Given the description of an element on the screen output the (x, y) to click on. 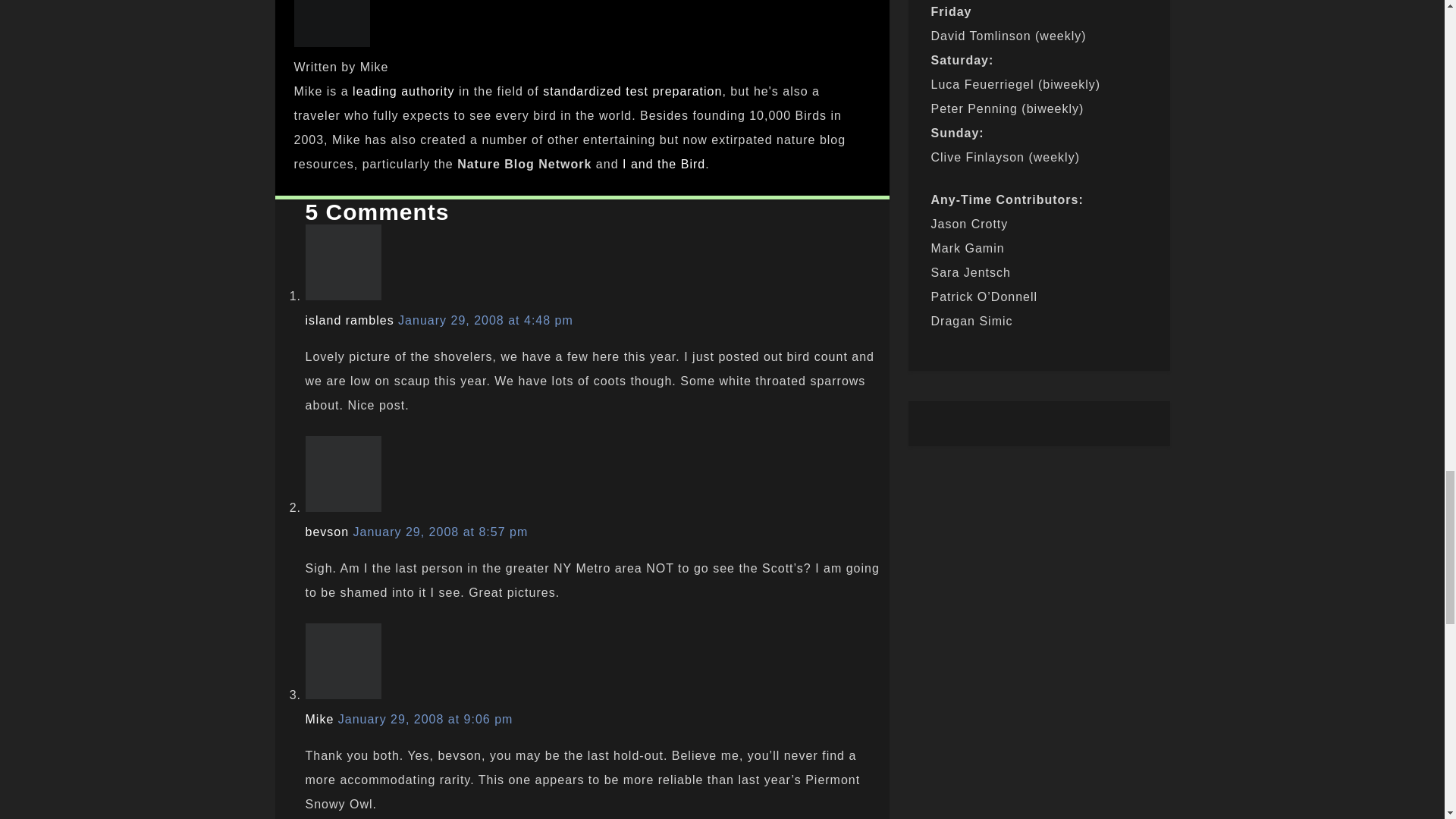
I and the Bird (663, 164)
leading (374, 91)
standardized test preparation (632, 91)
authority (427, 91)
